Given the description of an element on the screen output the (x, y) to click on. 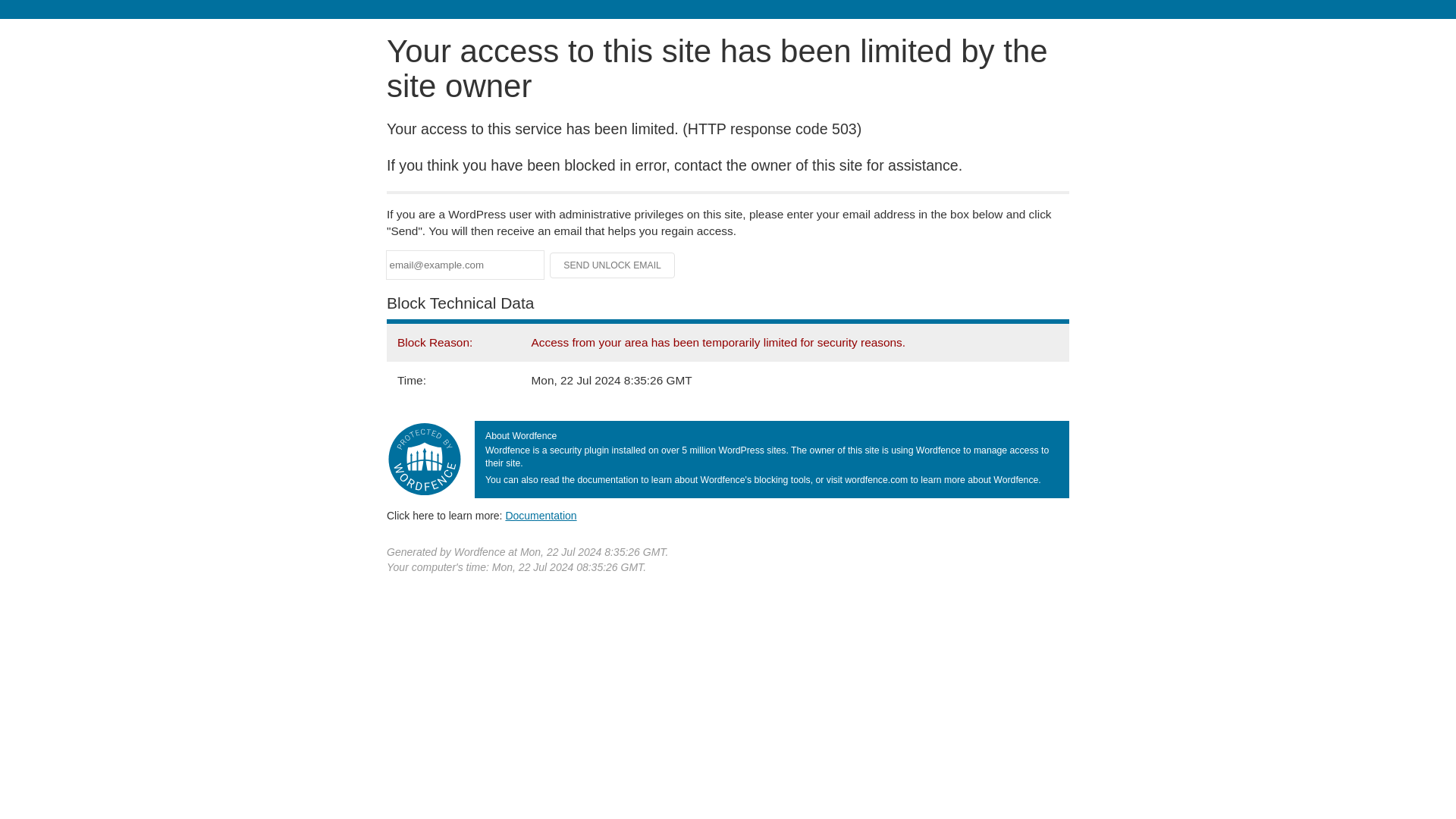
Send Unlock Email (612, 265)
Documentation (540, 515)
Send Unlock Email (612, 265)
